Given the description of an element on the screen output the (x, y) to click on. 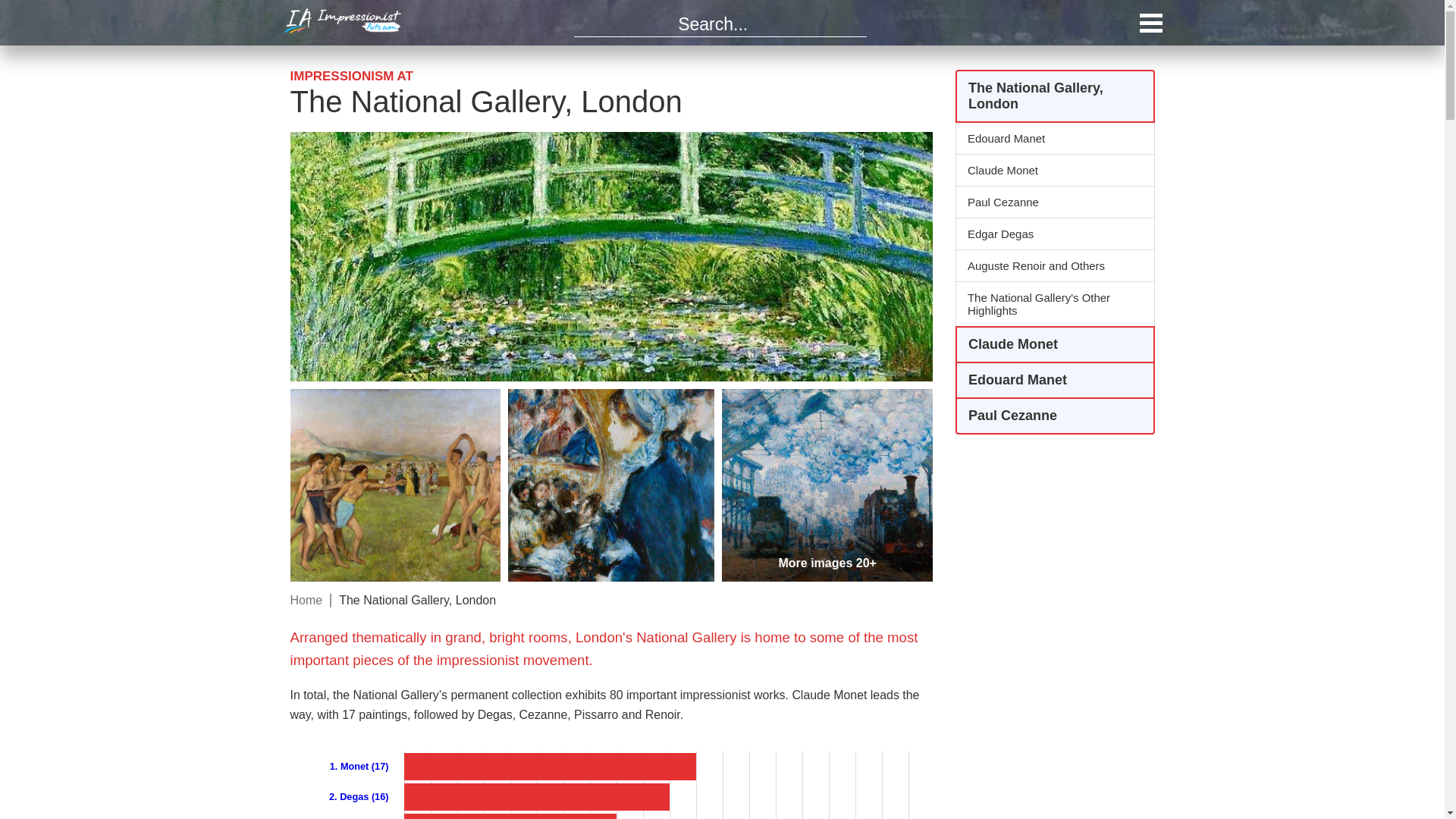
Edouard Manet (1054, 379)
Paul Cezanne (1054, 201)
The National Gallery's Other Highlights (1054, 303)
Auguste Renoir and Others (1054, 265)
Home (305, 599)
Claude Monet (1054, 169)
Edouard Manet (1054, 138)
The National Gallery, London (1054, 95)
Edgar Degas (1054, 233)
Open Menu (1149, 22)
